Given the description of an element on the screen output the (x, y) to click on. 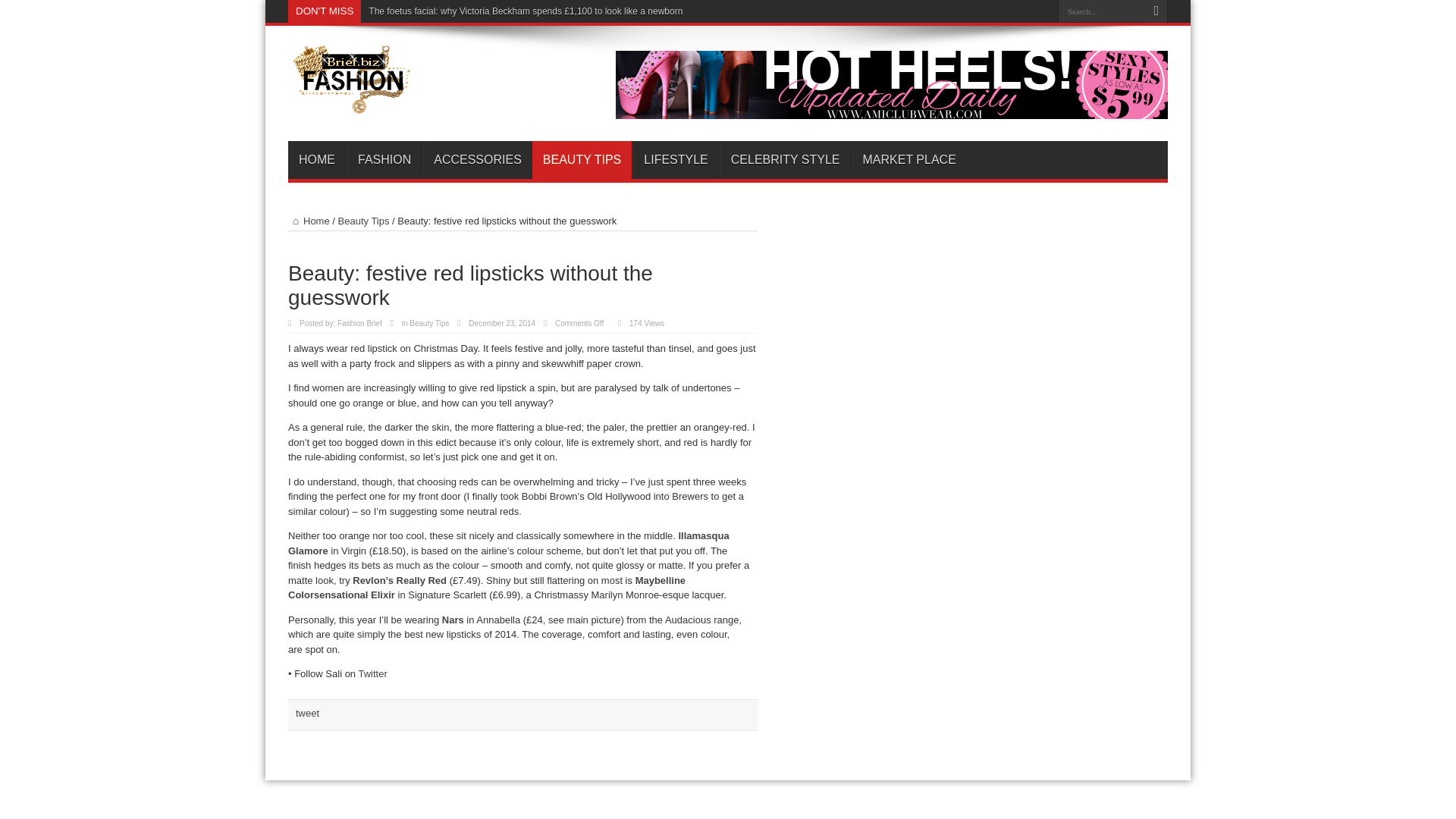
FASHION (384, 159)
Fashion Brief (352, 103)
LIFESTYLE (674, 159)
Home (309, 220)
BEAUTY TIPS (581, 159)
Maybelline Colorsensational Elixir (486, 587)
Illamasqua Glamore (508, 542)
Beauty Tips (428, 323)
tweet (306, 712)
Nars (453, 619)
